Given the description of an element on the screen output the (x, y) to click on. 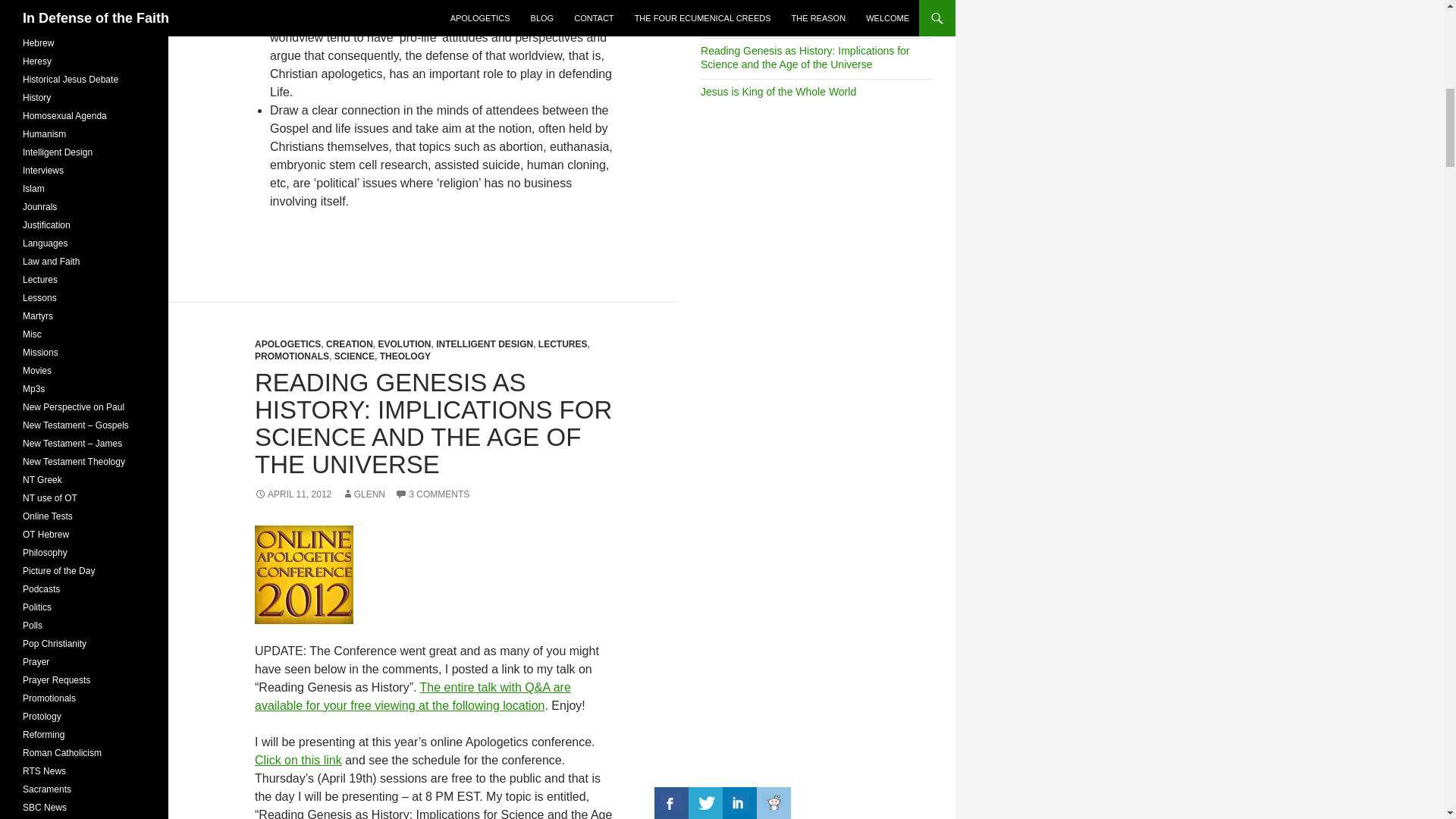
PROMOTIONALS (291, 356)
LECTURES (563, 344)
Glenn Jones speaks on Reading Genesis as History (412, 695)
CREATION (349, 344)
EVOLUTION (403, 344)
APRIL 11, 2012 (292, 493)
GLENN (363, 493)
SCIENCE (354, 356)
APOLOGETICS (287, 344)
3 COMMENTS (431, 493)
Click on this link (298, 759)
2012 Online Apologetics Conference (303, 574)
THEOLOGY (405, 356)
INTELLIGENT DESIGN (483, 344)
